Given the description of an element on the screen output the (x, y) to click on. 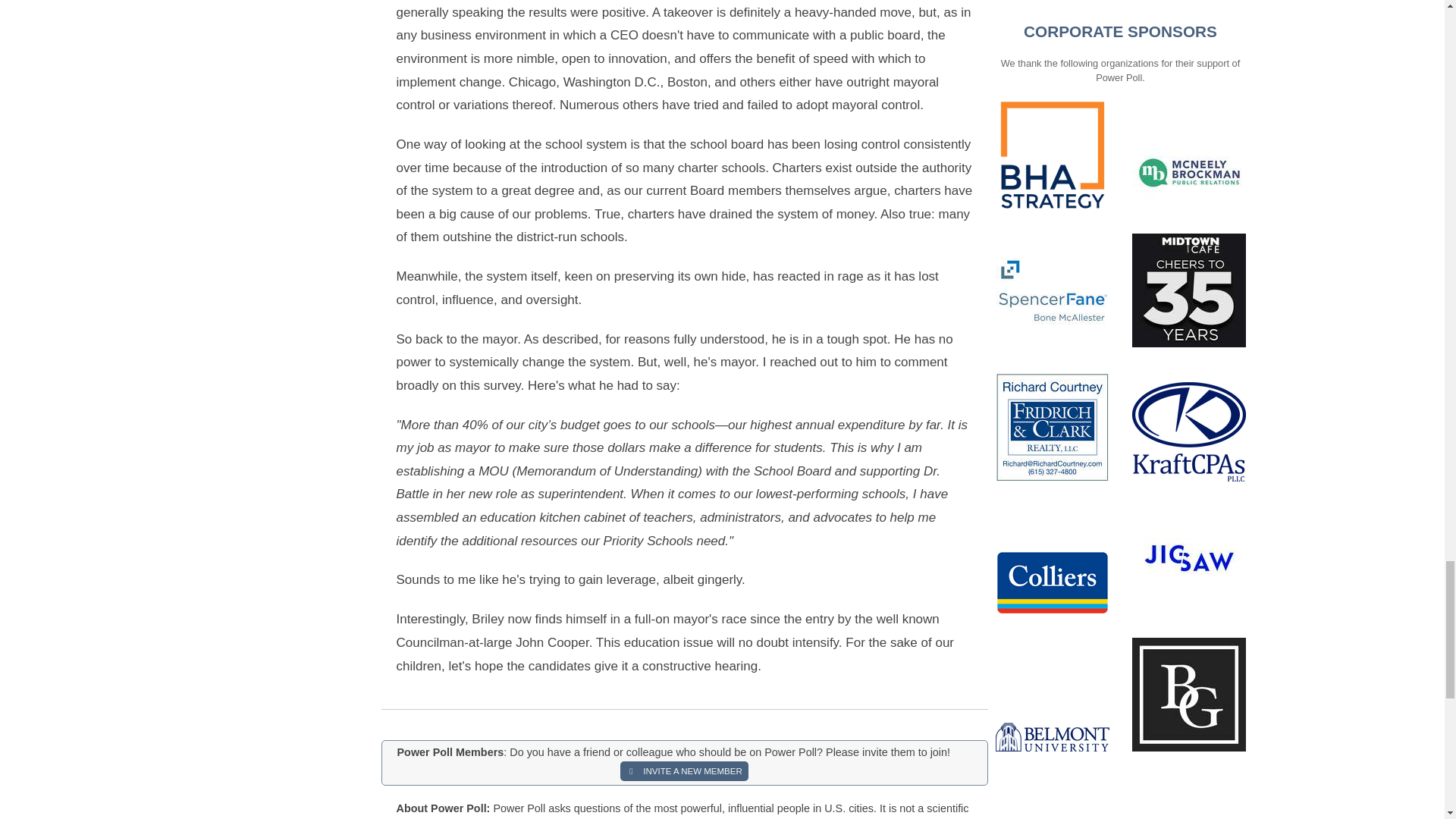
INVITE A NEW MEMBER (684, 771)
